Given the description of an element on the screen output the (x, y) to click on. 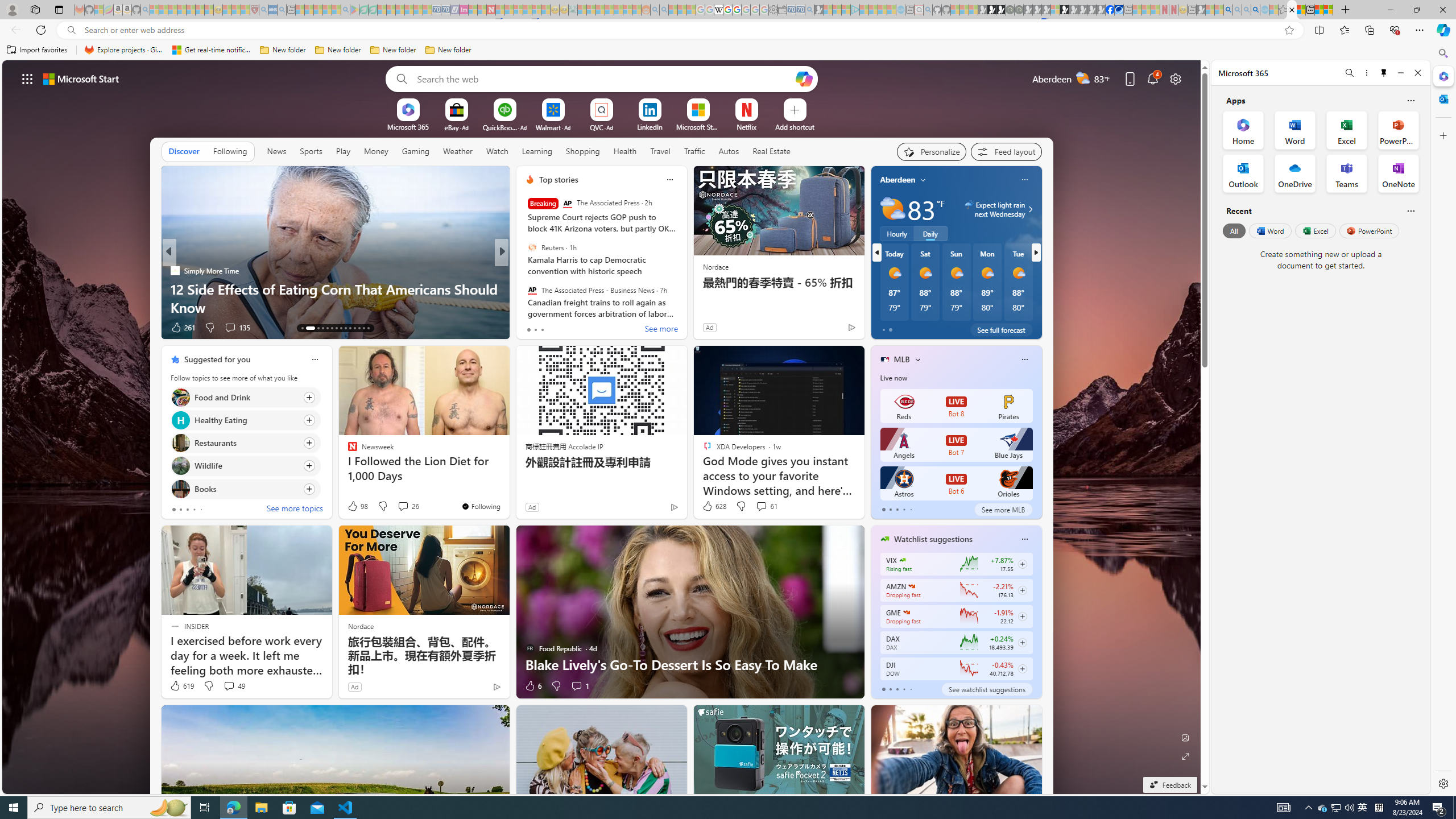
AutomationID: tab-22 (349, 328)
Weather (457, 151)
View comments 49 Comment (228, 685)
View comments 1 Comment (580, 685)
Favorites - Sleeping (1283, 9)
Discover (183, 151)
1k Like (180, 327)
Eggs All Ways (524, 288)
AutomationID: tab-25 (363, 328)
Microsoft Start - Sleeping (882, 9)
Lucy Diamond (524, 288)
